Given the description of an element on the screen output the (x, y) to click on. 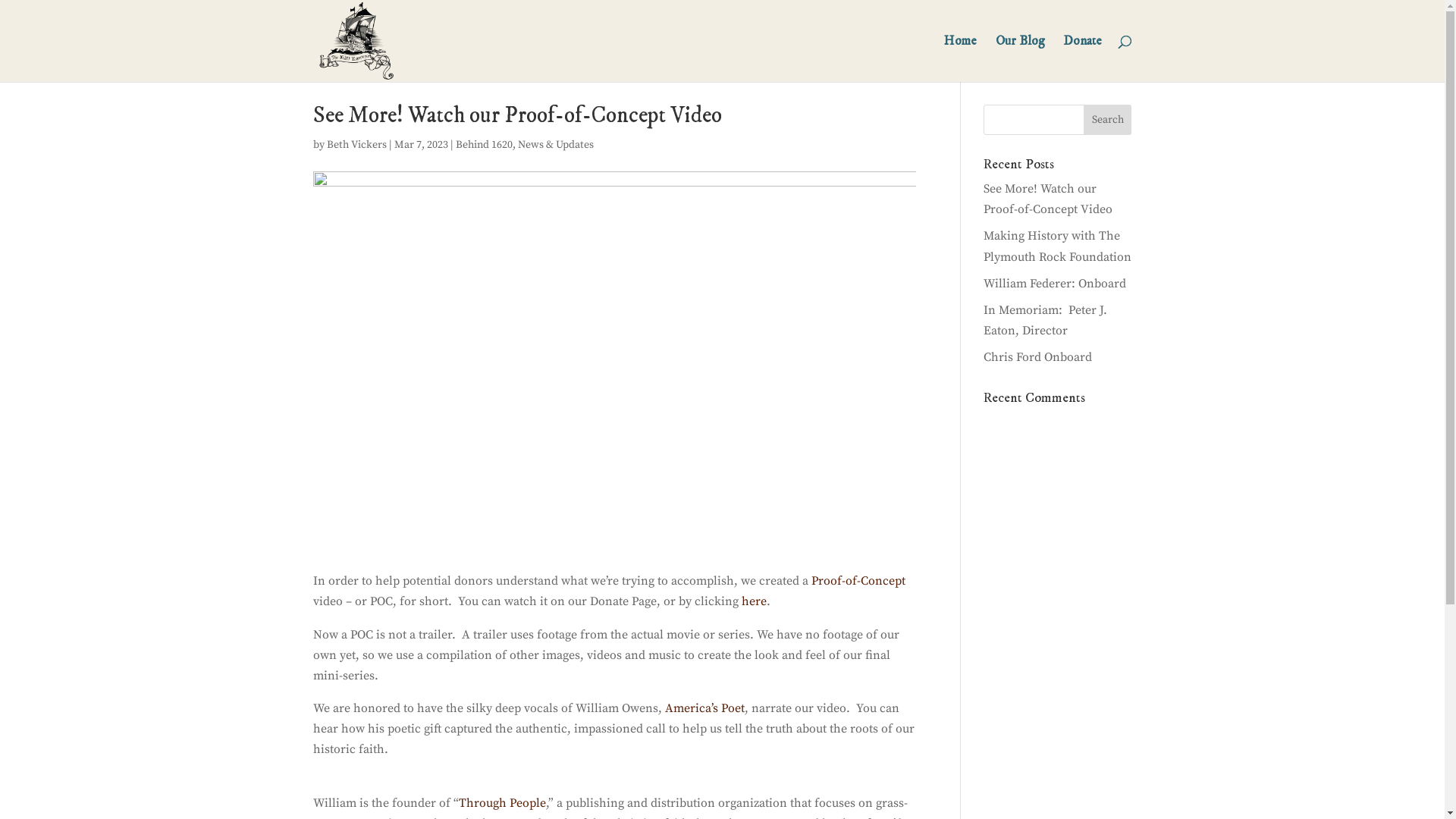
Behind 1620 Element type: text (483, 144)
here Element type: text (753, 600)
Our Blog Element type: text (1018, 58)
Donate Element type: text (1082, 58)
In Memoriam:  Peter J. Eaton, Director Element type: text (1045, 320)
William Federer: Onboard Element type: text (1054, 283)
Through People Element type: text (501, 802)
Home Element type: text (959, 58)
See More! Watch our Proof-of-Concept Video Element type: text (1047, 198)
Proof-of-Concept Element type: text (856, 580)
Making History with The Plymouth Rock Foundation Element type: text (1057, 245)
Chris Ford Onboard Element type: text (1037, 356)
News & Updates Element type: text (555, 144)
Beth Vickers Element type: text (355, 144)
Search Element type: text (1107, 119)
